Given the description of an element on the screen output the (x, y) to click on. 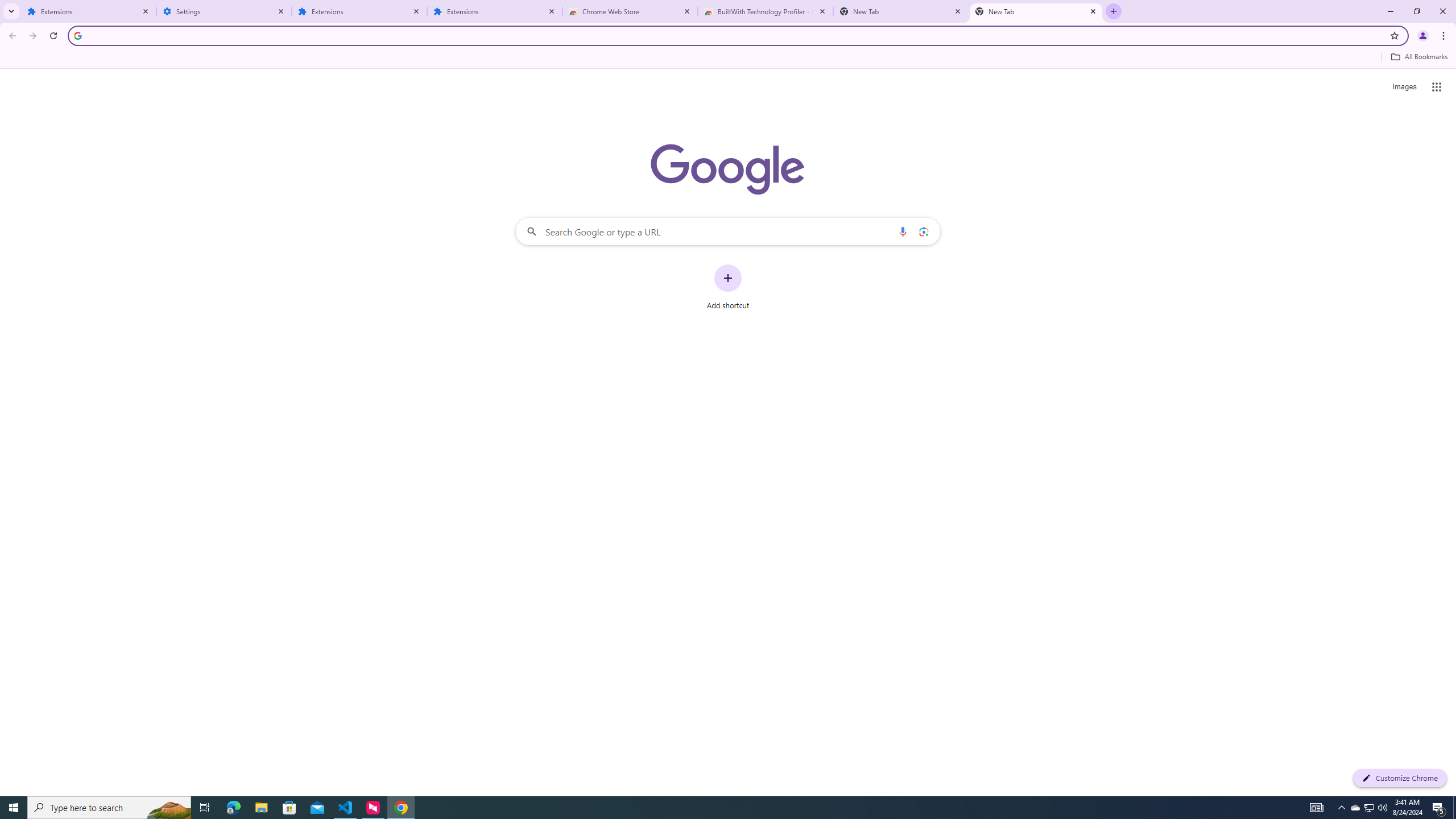
New Tab (901, 11)
Extensions (494, 11)
Settings (224, 11)
